Given the description of an element on the screen output the (x, y) to click on. 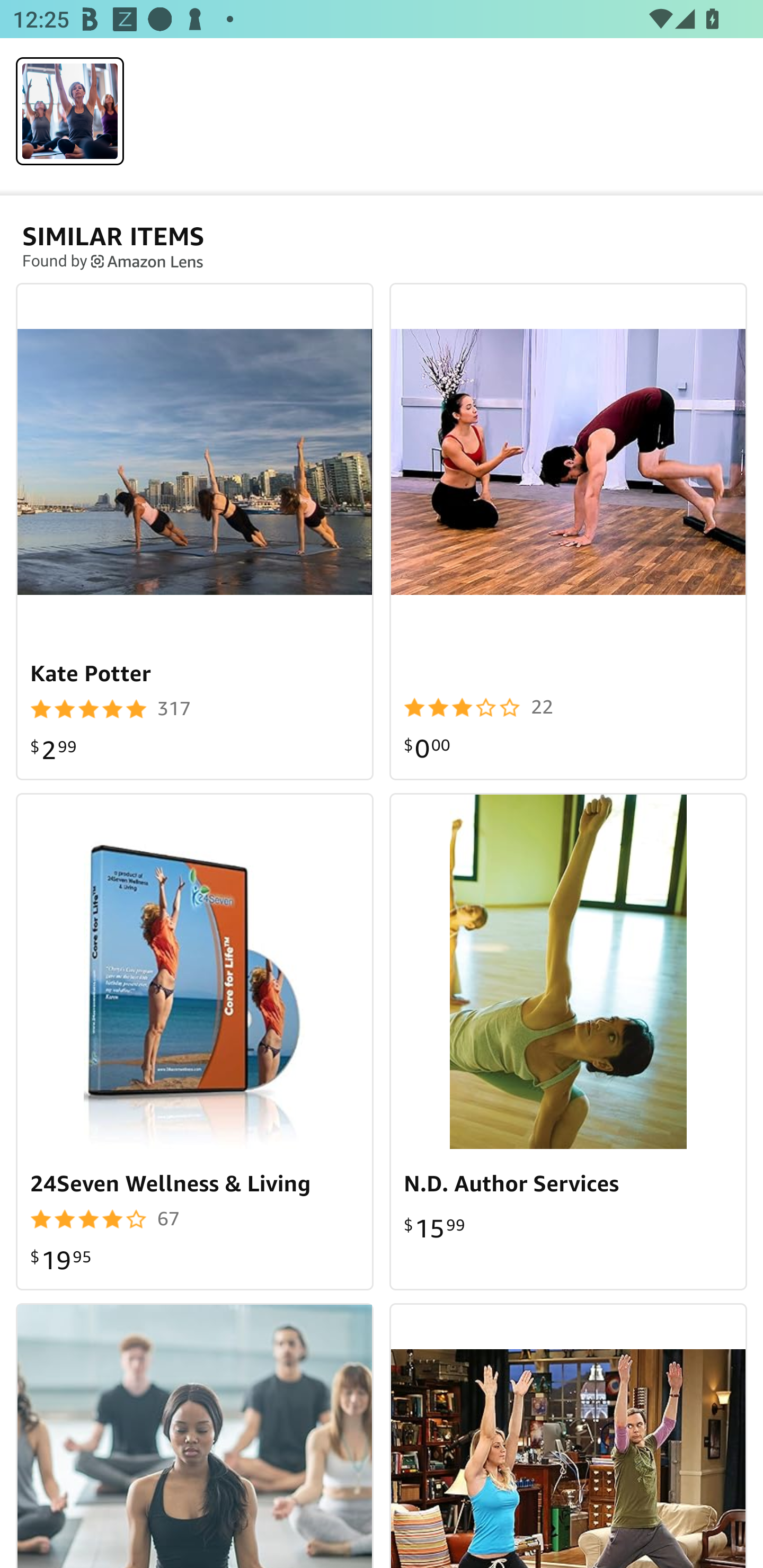
Kate Potter 317 $ 2 99 (194, 531)
22 $ 0 00 (567, 531)
24Seven Wellness & Living 67 $ 19 95 (194, 1041)
N.D. Author Services $ 15 99 (567, 1041)
